Given the description of an element on the screen output the (x, y) to click on. 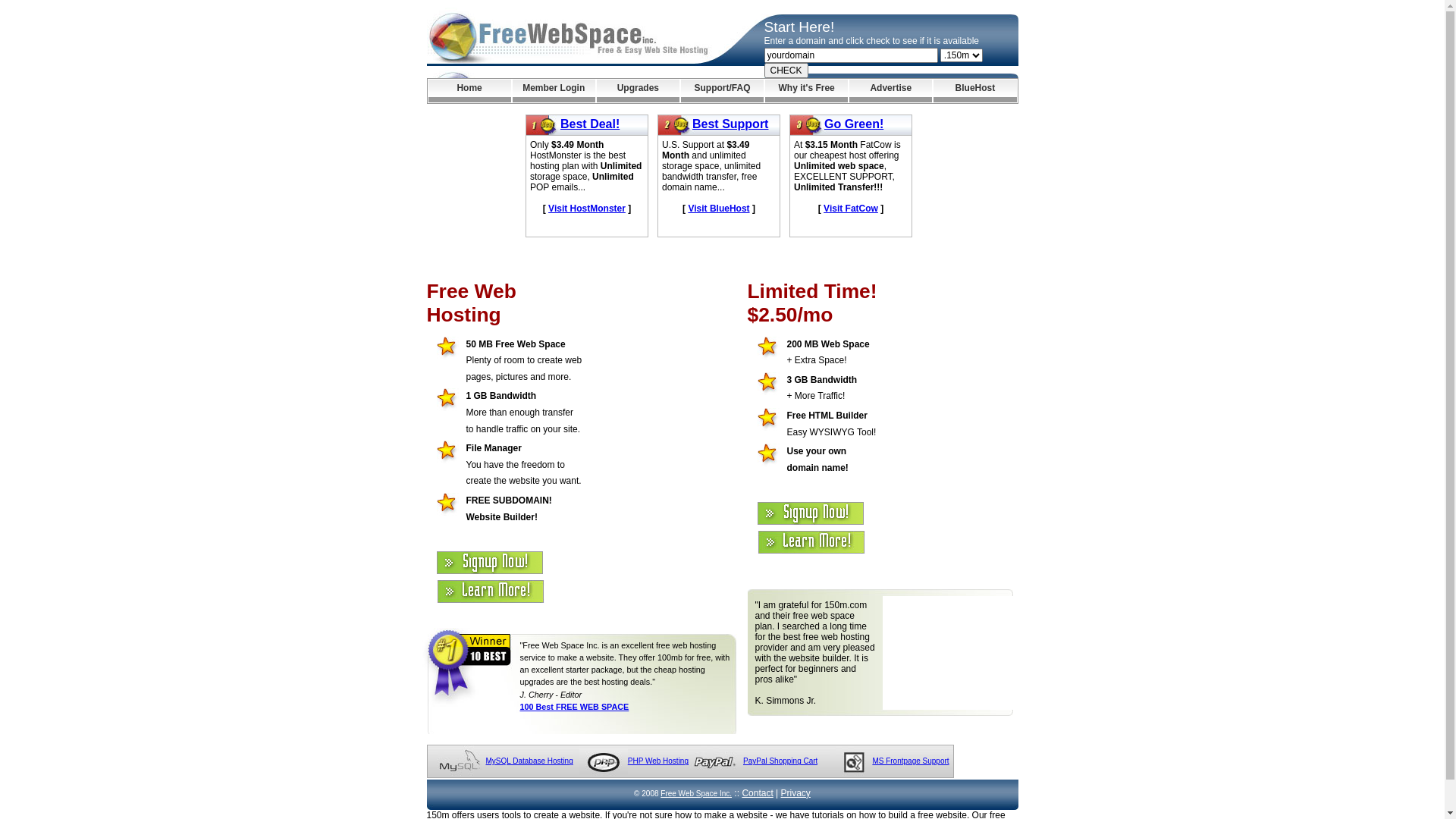
Privacy Element type: text (795, 792)
PayPal Shopping Cart Element type: text (780, 760)
PHP Web Hosting Element type: text (657, 760)
Member Login Element type: text (553, 90)
Advertise Element type: text (890, 90)
Upgrades Element type: text (637, 90)
CHECK Element type: text (786, 70)
MS Frontpage Support Element type: text (910, 760)
Contact Element type: text (756, 792)
Why it's Free Element type: text (806, 90)
Support/FAQ Element type: text (721, 90)
100 Best FREE WEB SPACE Element type: text (574, 706)
BlueHost Element type: text (974, 90)
Free Web Space Inc. Element type: text (695, 793)
Home Element type: text (468, 90)
MySQL Database Hosting Element type: text (528, 760)
